Given the description of an element on the screen output the (x, y) to click on. 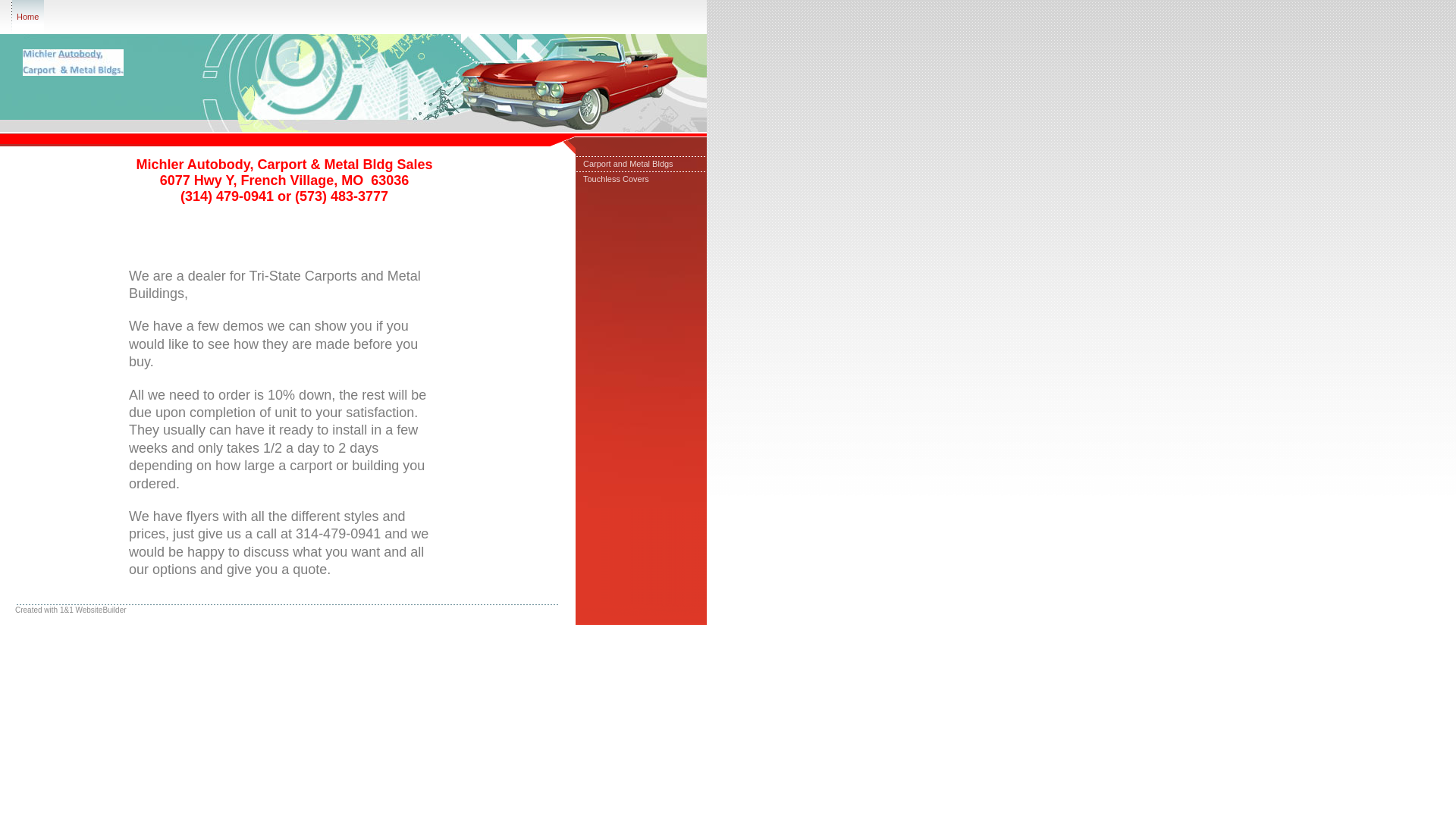
Home (27, 17)
Touchless Covers (640, 178)
Carport and Metal Bldgs (640, 163)
